Given the description of an element on the screen output the (x, y) to click on. 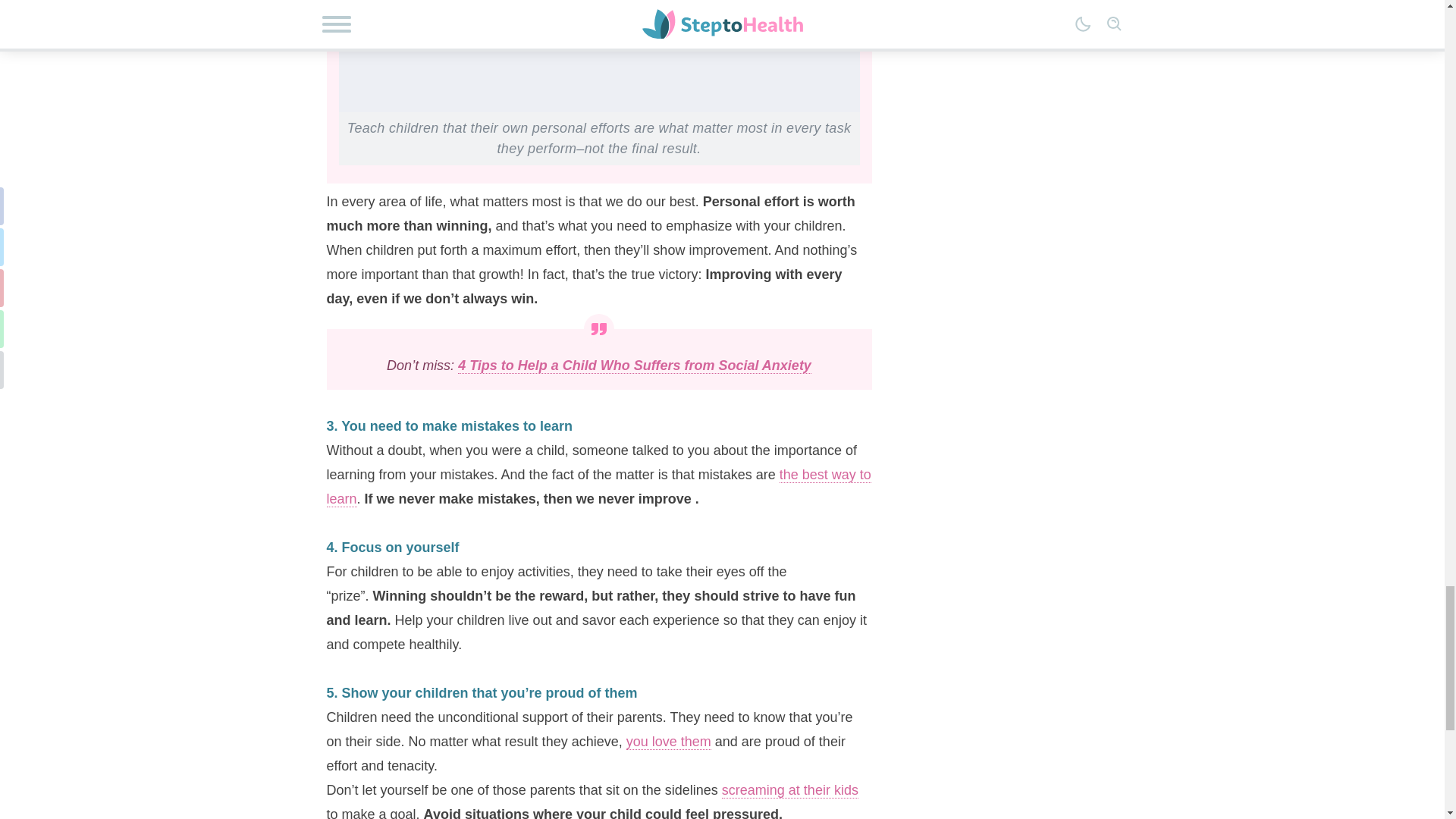
screaming at their kids (790, 790)
4 Tips to Help a Child Who Suffers from Social Anxiety (634, 365)
the best way to learn (598, 486)
you love them (668, 741)
